Given the description of an element on the screen output the (x, y) to click on. 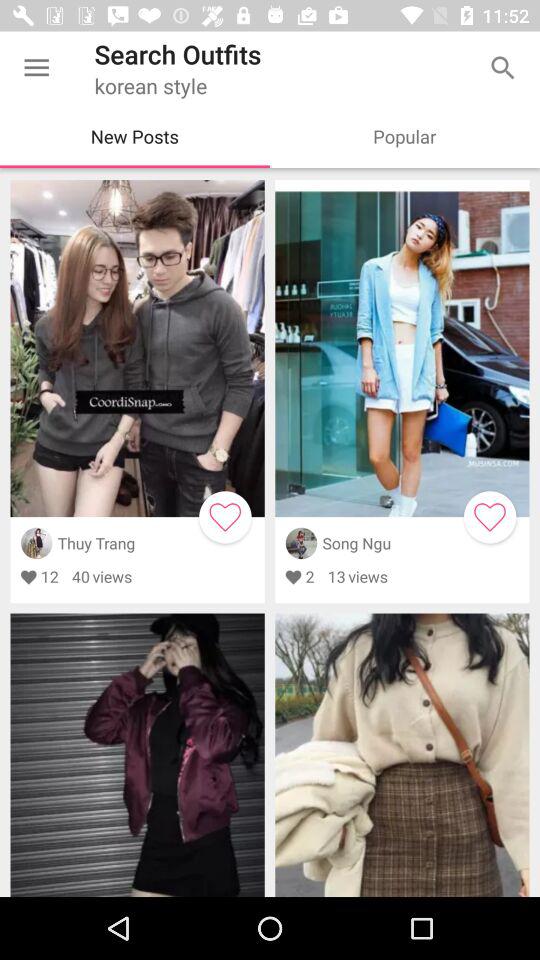
save outfit option (225, 517)
